Given the description of an element on the screen output the (x, y) to click on. 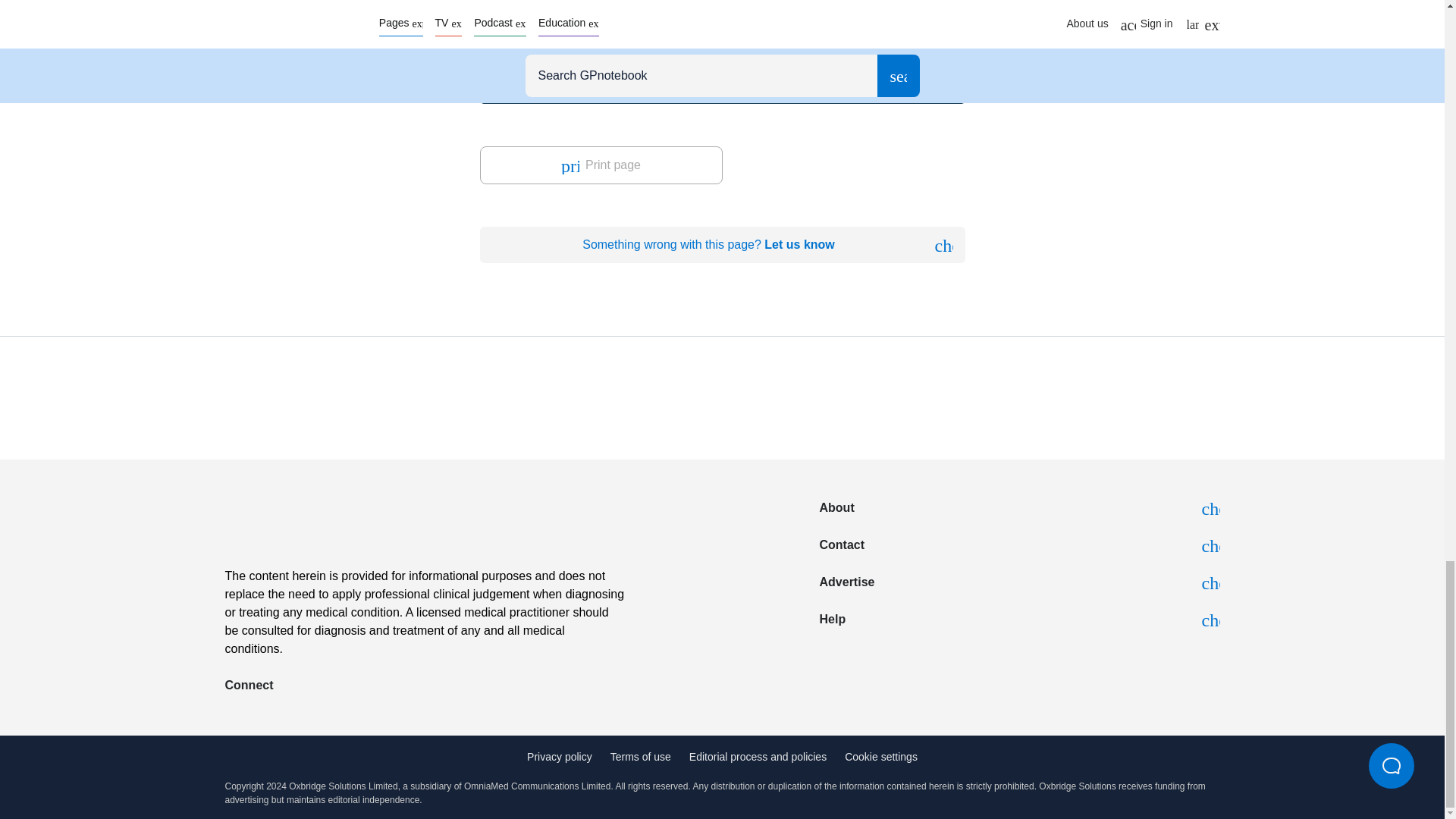
Terms of use (640, 759)
Privacy policy (559, 759)
Editorial process and policies (757, 759)
About (1019, 508)
Something wrong with this page? Let us know (721, 244)
Cookie settings (880, 757)
Advertise (1019, 582)
Create a free account (603, 61)
Contact (1019, 545)
Print page (600, 165)
